Given the description of an element on the screen output the (x, y) to click on. 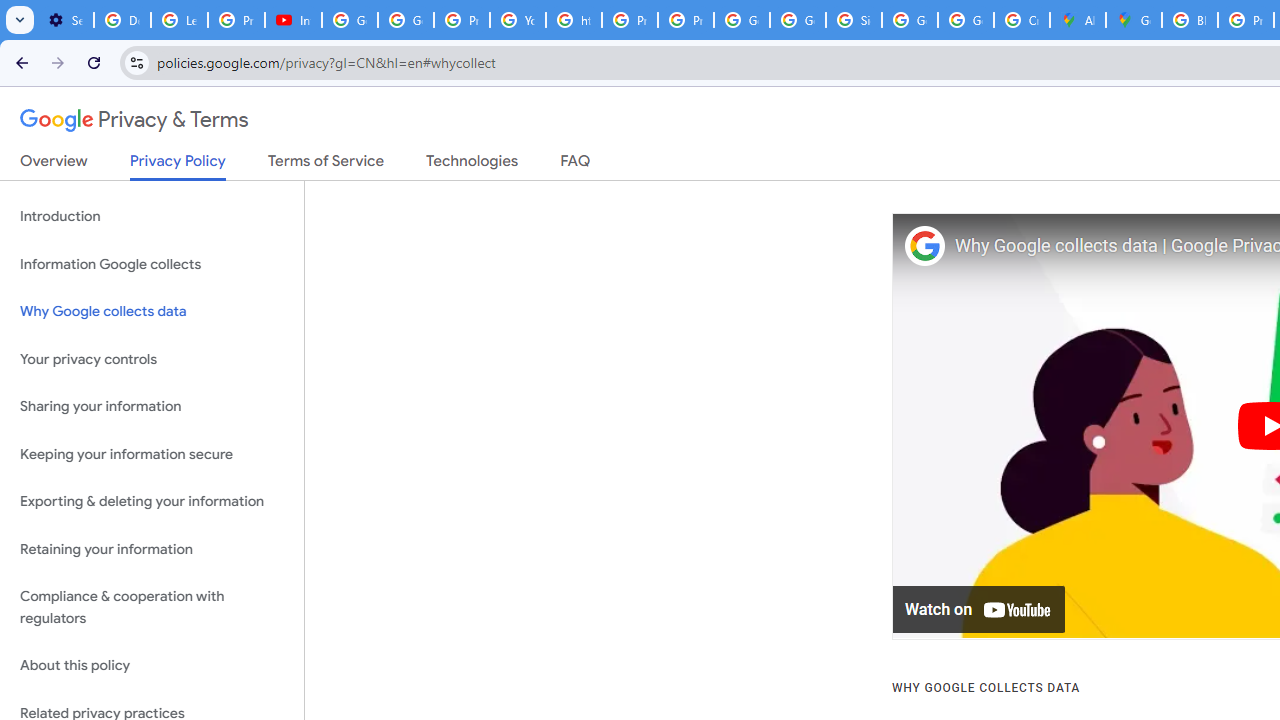
Watch on YouTube (979, 610)
Compliance & cooperation with regulators (152, 607)
Blogger Policies and Guidelines - Transparency Center (1190, 20)
About this policy (152, 666)
Information Google collects (152, 263)
Google Maps (1133, 20)
Delete photos & videos - Computer - Google Photos Help (122, 20)
YouTube (518, 20)
Sharing your information (152, 407)
